Given the description of an element on the screen output the (x, y) to click on. 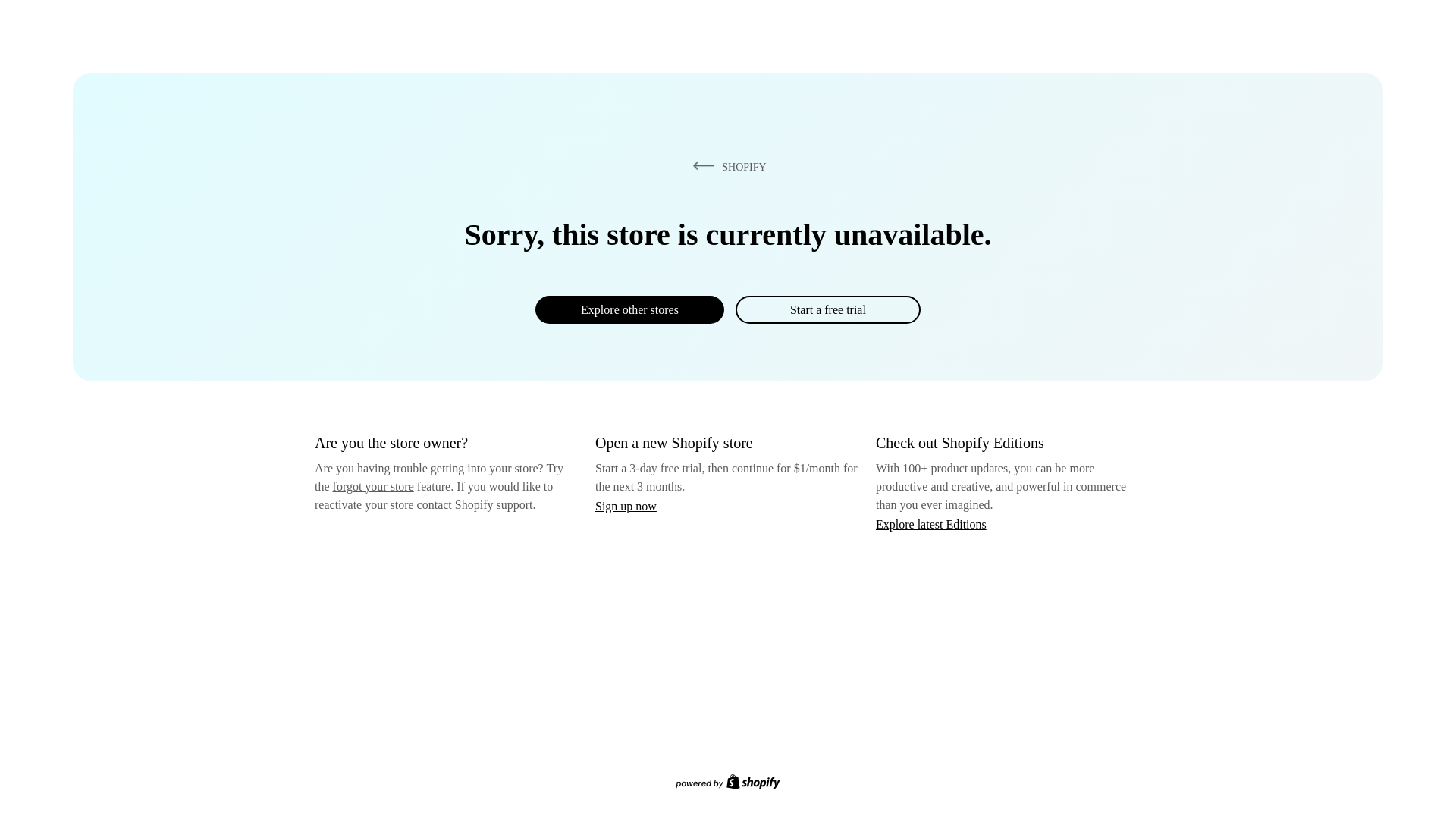
Shopify support (493, 504)
forgot your store (373, 486)
SHOPIFY (726, 166)
Start a free trial (827, 309)
Sign up now (625, 505)
Explore latest Editions (931, 523)
Explore other stores (629, 309)
